Given the description of an element on the screen output the (x, y) to click on. 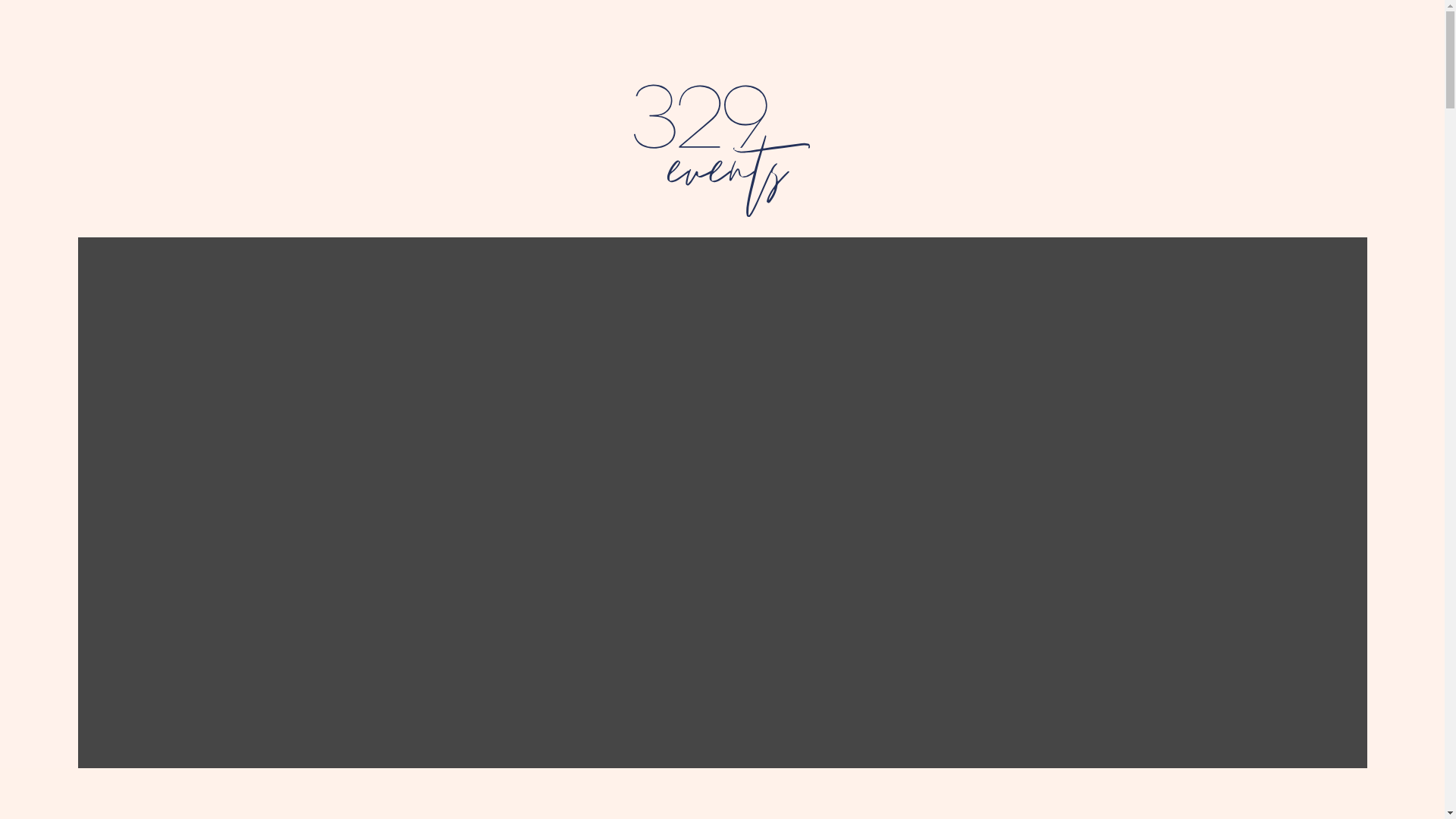
329events_Logo_175x232 Element type: hover (721, 150)
